Given the description of an element on the screen output the (x, y) to click on. 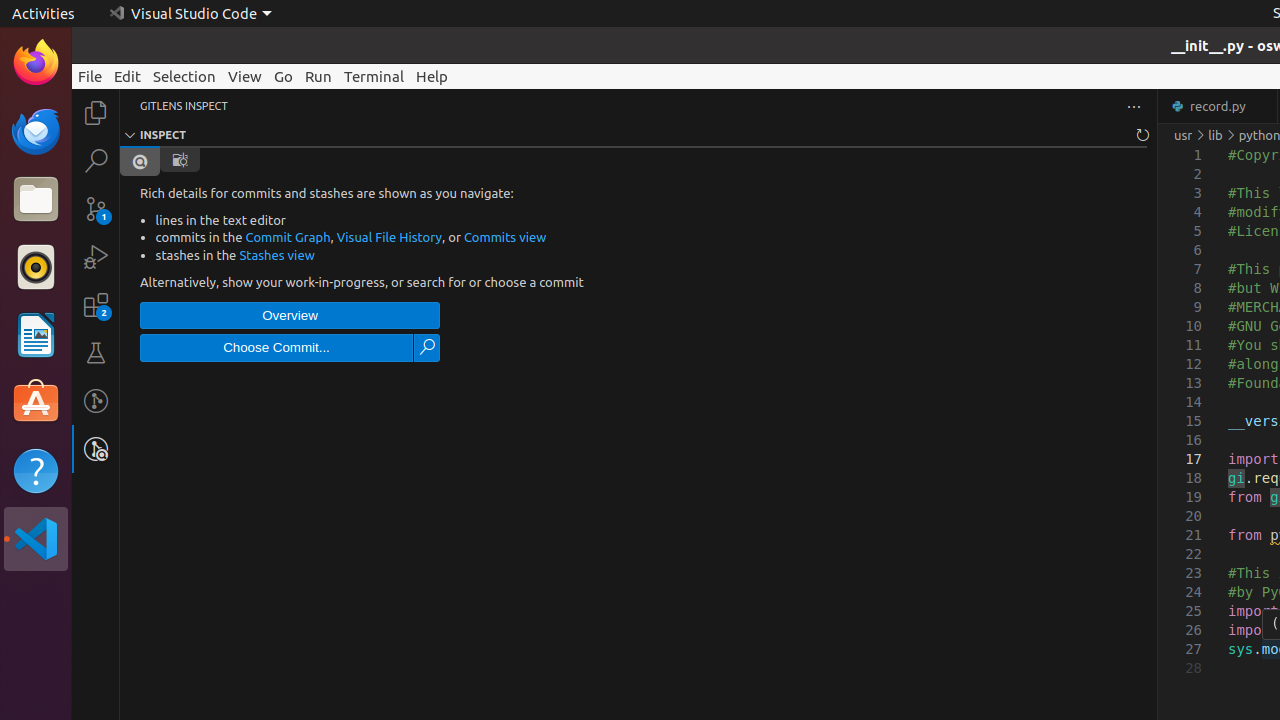
Overview Element type: push-button (290, 315)
Inspect Section Element type: push-button (638, 135)
Edit Element type: push-button (127, 76)
Explorer (Ctrl+Shift+E) Element type: page-tab (96, 113)
Go Element type: push-button (283, 76)
